Given the description of an element on the screen output the (x, y) to click on. 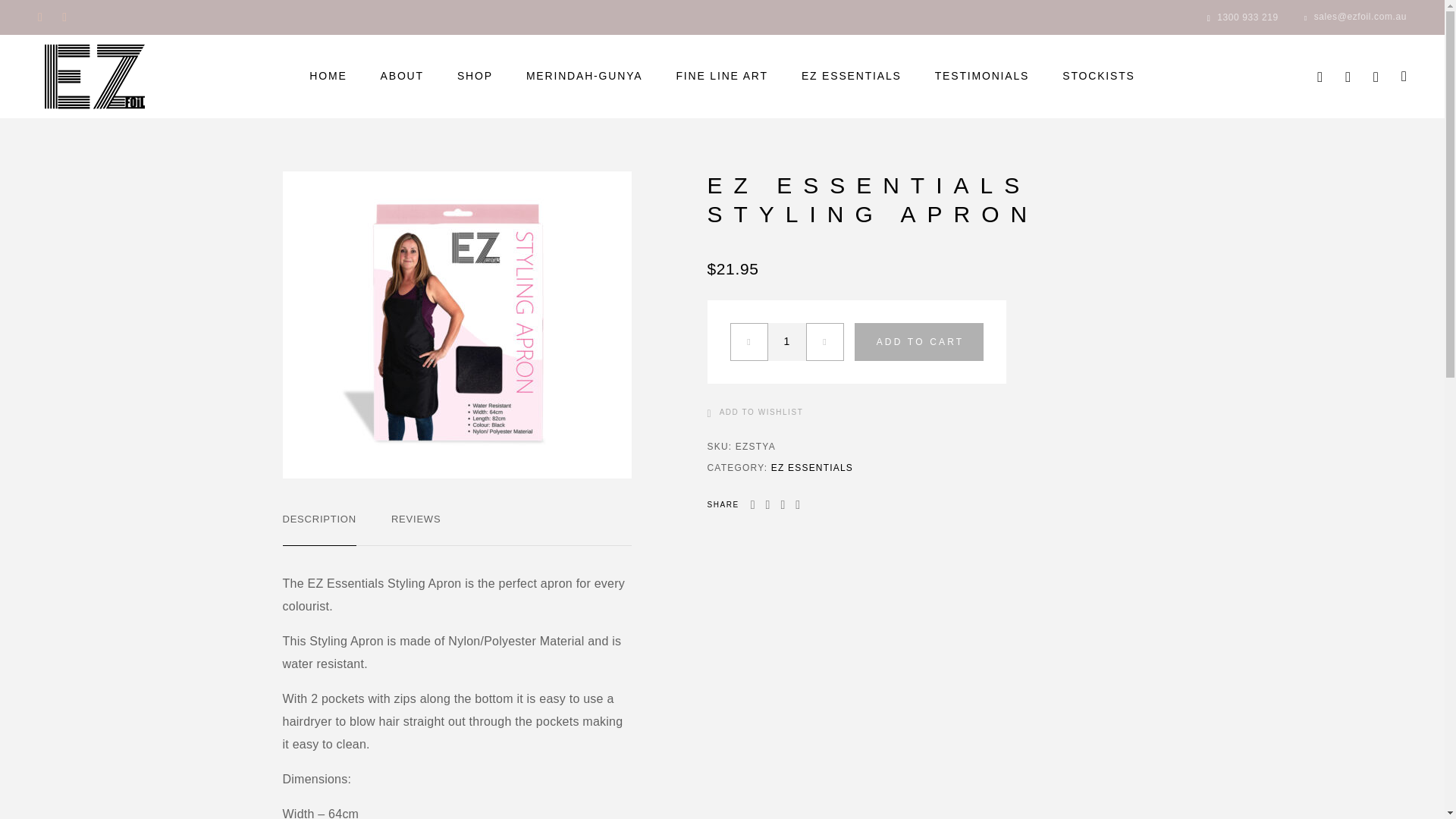
Share on Facebook (752, 505)
1 (786, 341)
Qty (786, 341)
Share on Twitter (768, 505)
Pin on Pinterest (782, 505)
Share on Whatsapp (797, 505)
Login (1347, 76)
